Given the description of an element on the screen output the (x, y) to click on. 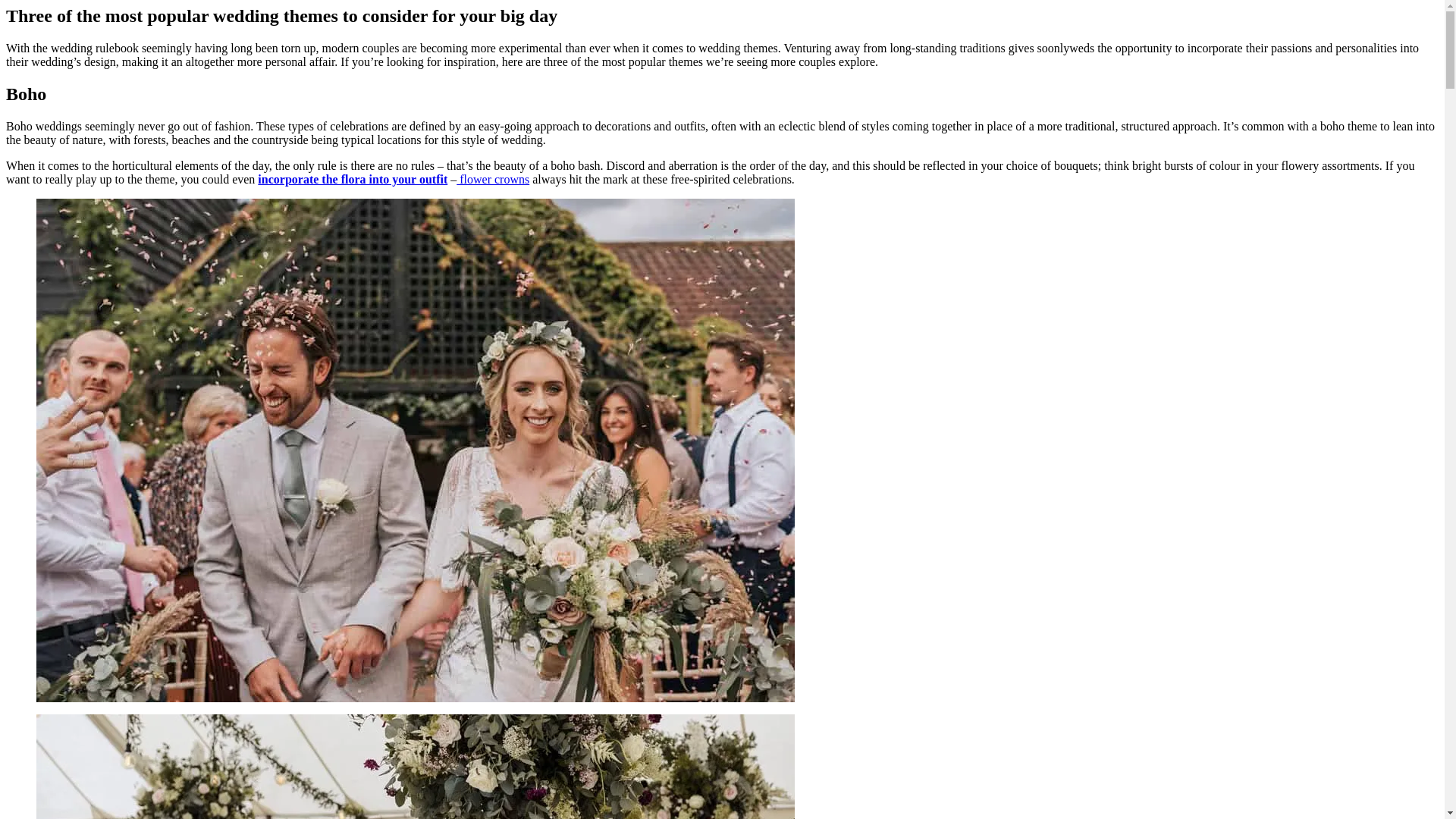
 flower crowns (493, 178)
incorporate the flora into your outfit (351, 178)
